Given the description of an element on the screen output the (x, y) to click on. 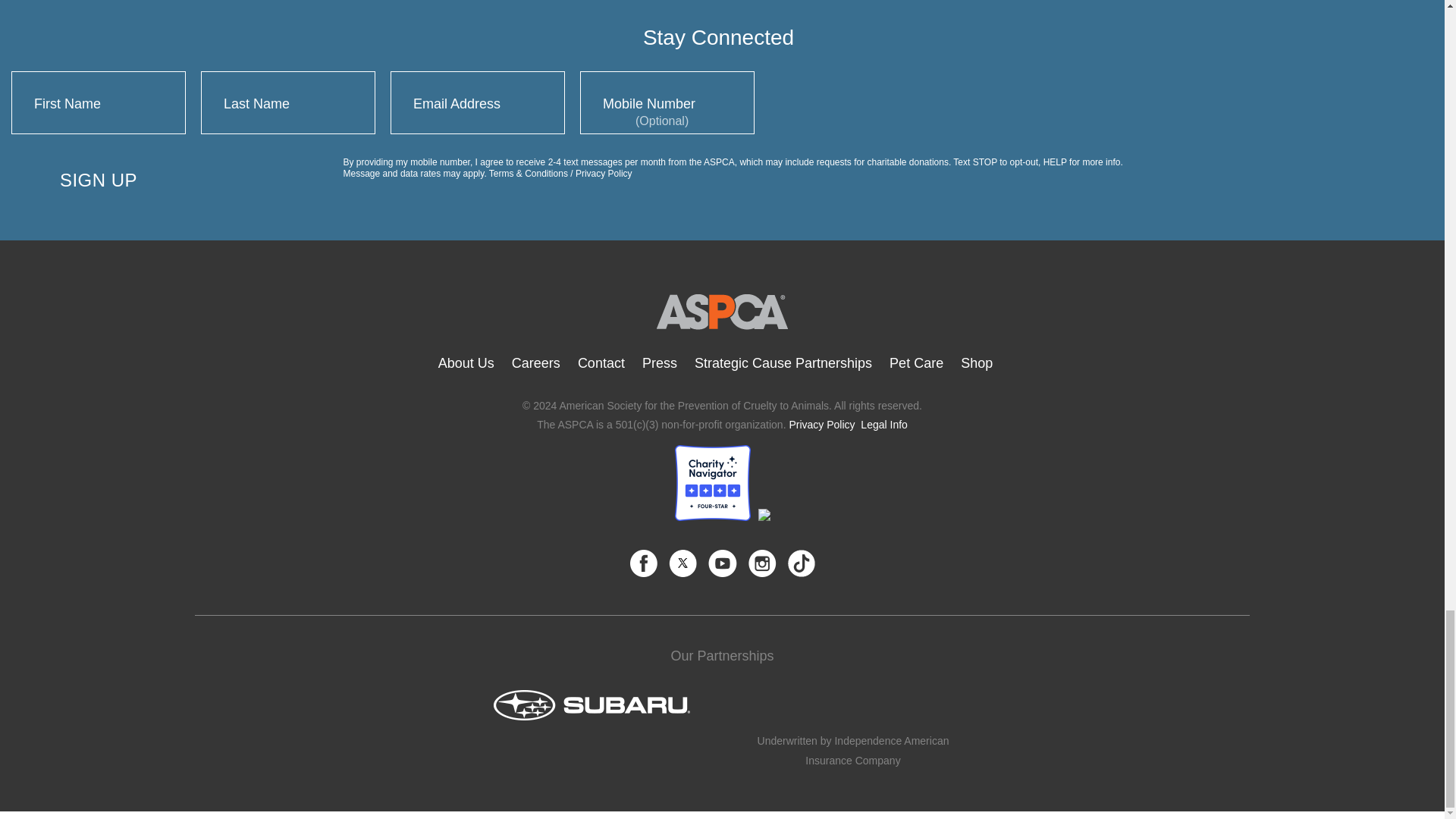
Sign Up (98, 180)
